Given the description of an element on the screen output the (x, y) to click on. 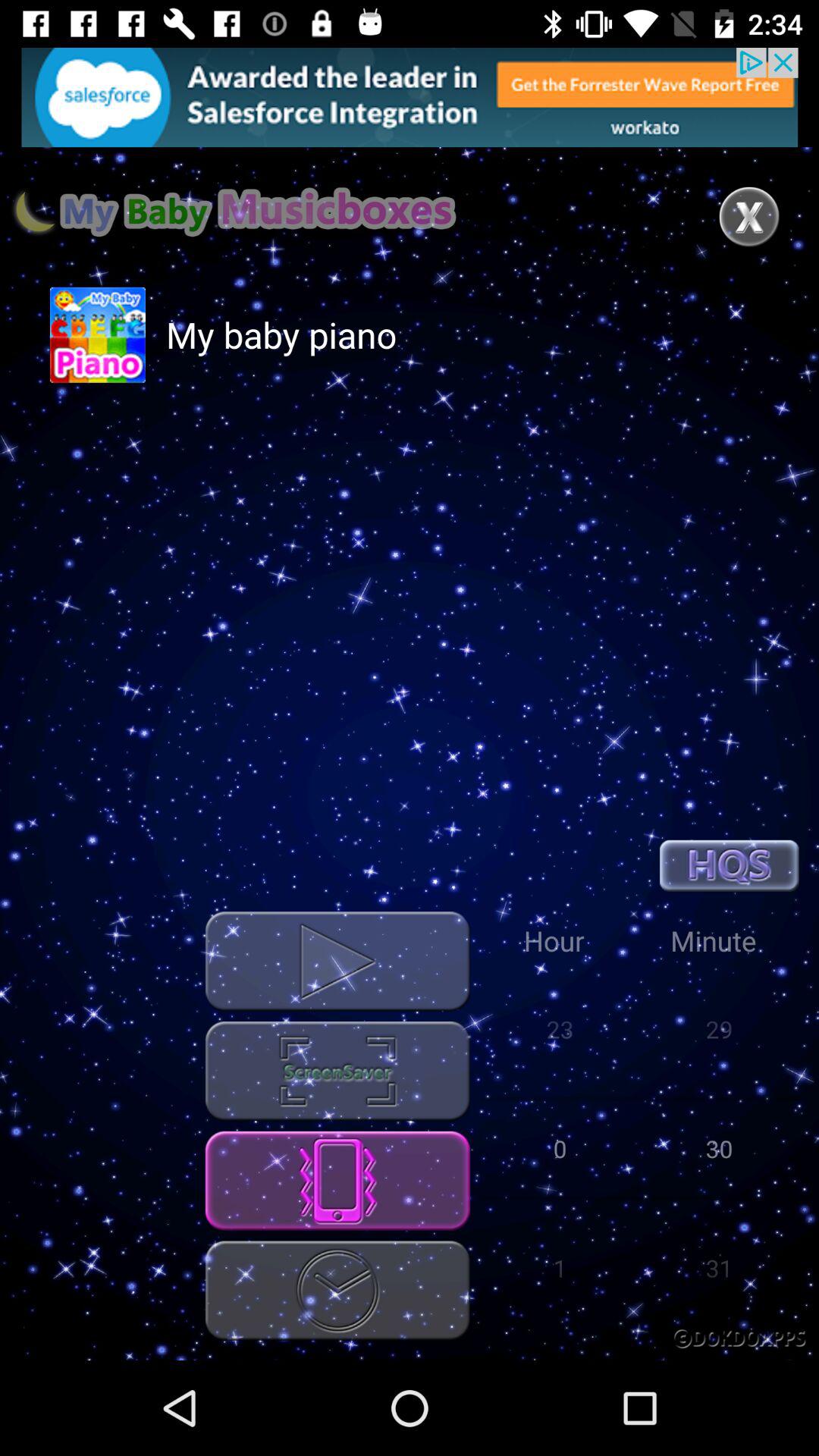
select music botton (337, 1071)
